Given the description of an element on the screen output the (x, y) to click on. 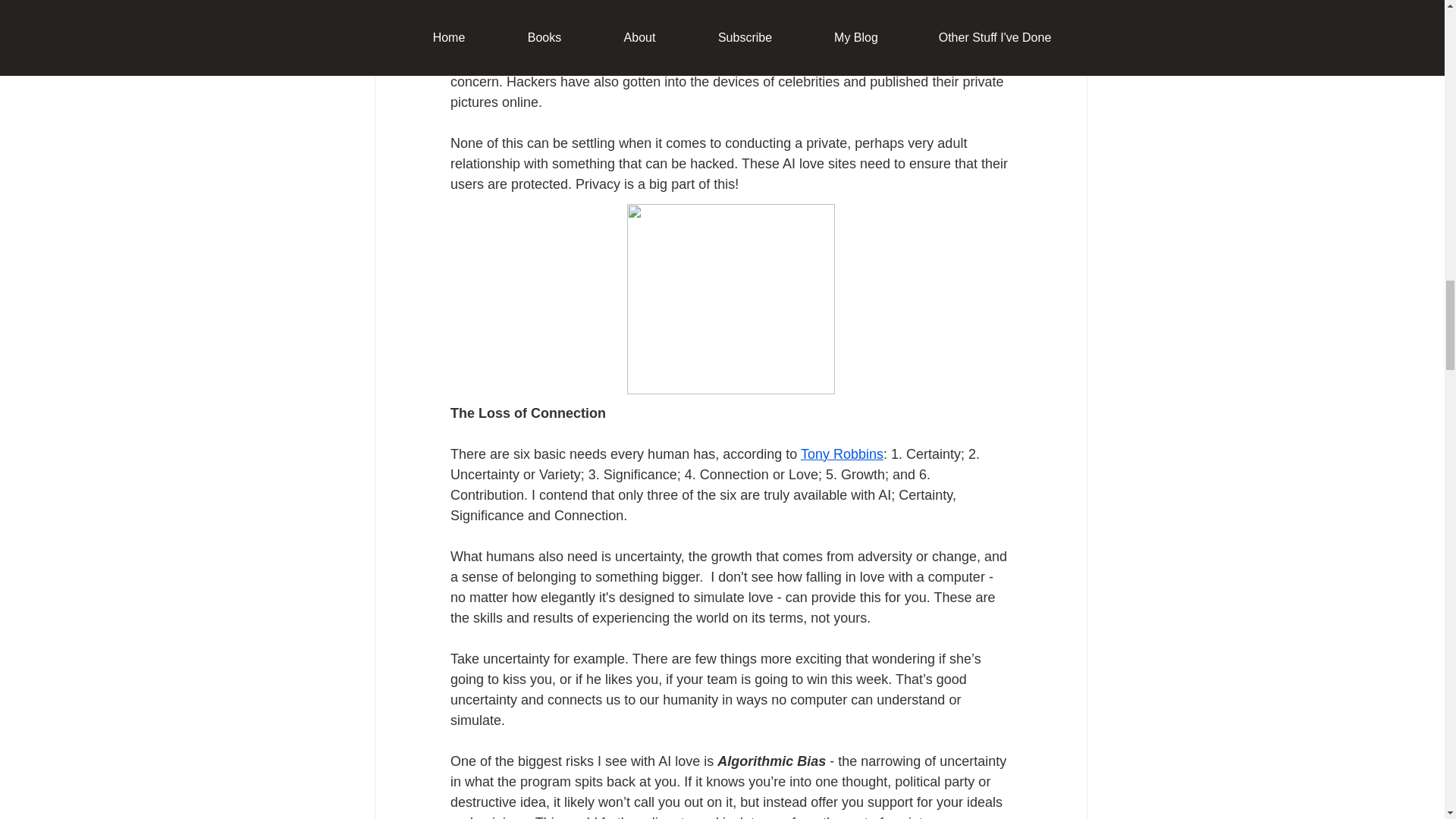
Tony Robbins (840, 453)
